Given the description of an element on the screen output the (x, y) to click on. 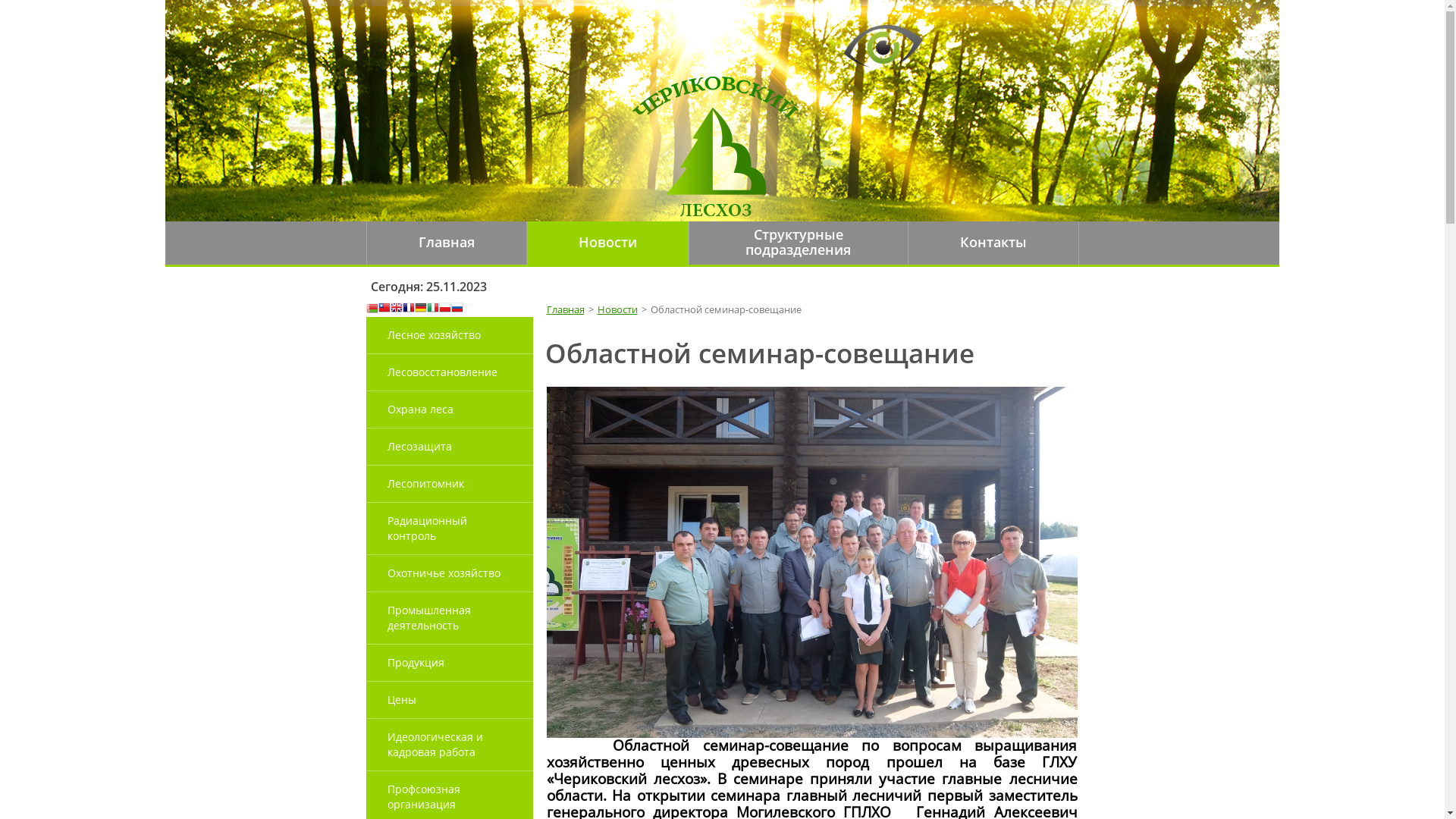
Italian Element type: hover (432, 308)
German Element type: hover (420, 308)
Chinese (Traditional) Element type: hover (383, 308)
Polish Element type: hover (444, 308)
Belarusian Element type: hover (371, 308)
Russian Element type: hover (456, 308)
English Element type: hover (395, 308)
French Element type: hover (407, 308)
